Given the description of an element on the screen output the (x, y) to click on. 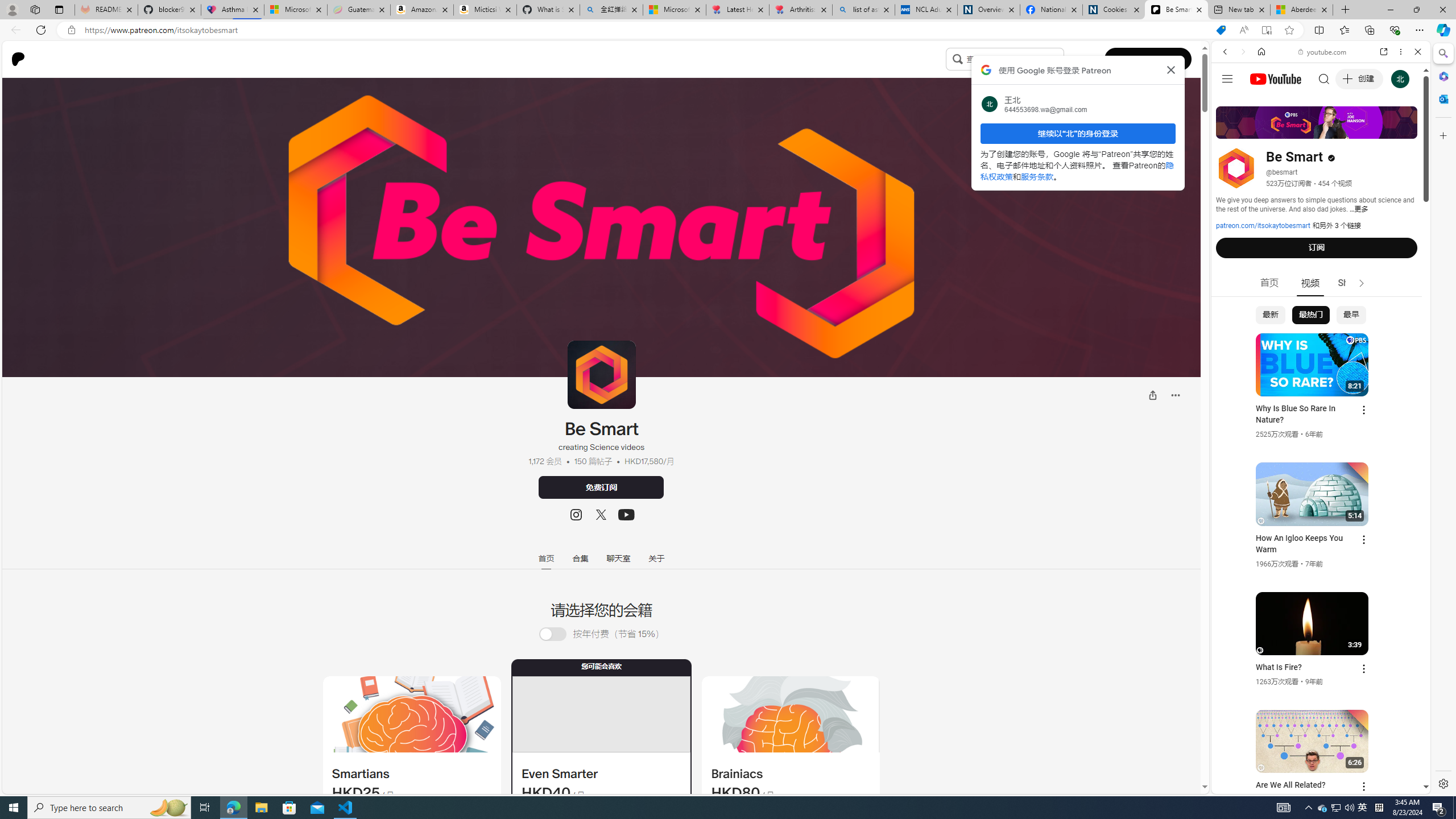
Aberdeen, Hong Kong SAR hourly forecast | Microsoft Weather (1301, 9)
Search Filter, VIDEOS (1300, 129)
Class: sc-1a2jhmw-3 djwfLg (790, 713)
#you (1315, 659)
Actions for this site (1371, 661)
Go to home page (22, 59)
Loading (552, 634)
